Given the description of an element on the screen output the (x, y) to click on. 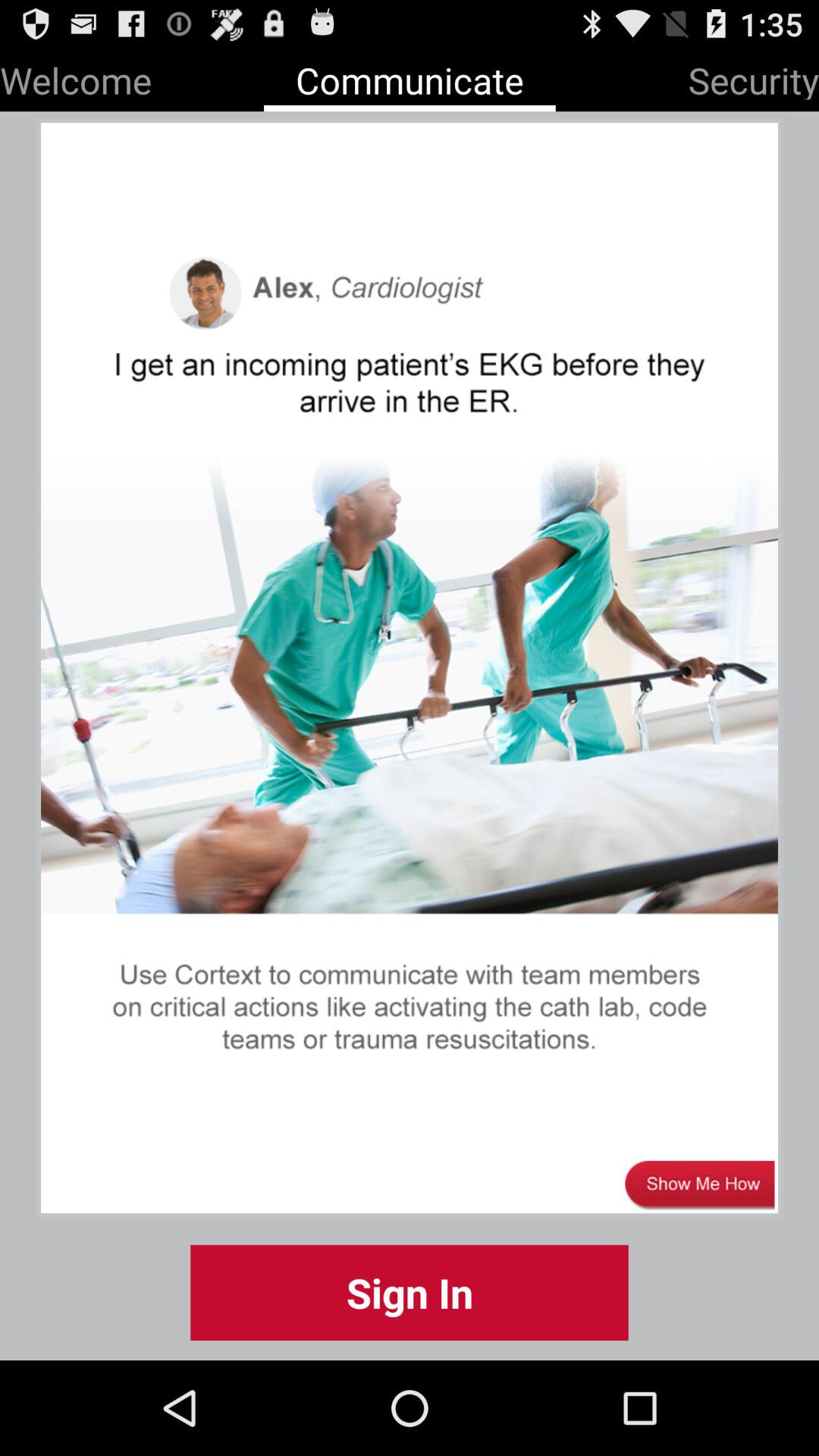
jump to the welcome icon (75, 77)
